Given the description of an element on the screen output the (x, y) to click on. 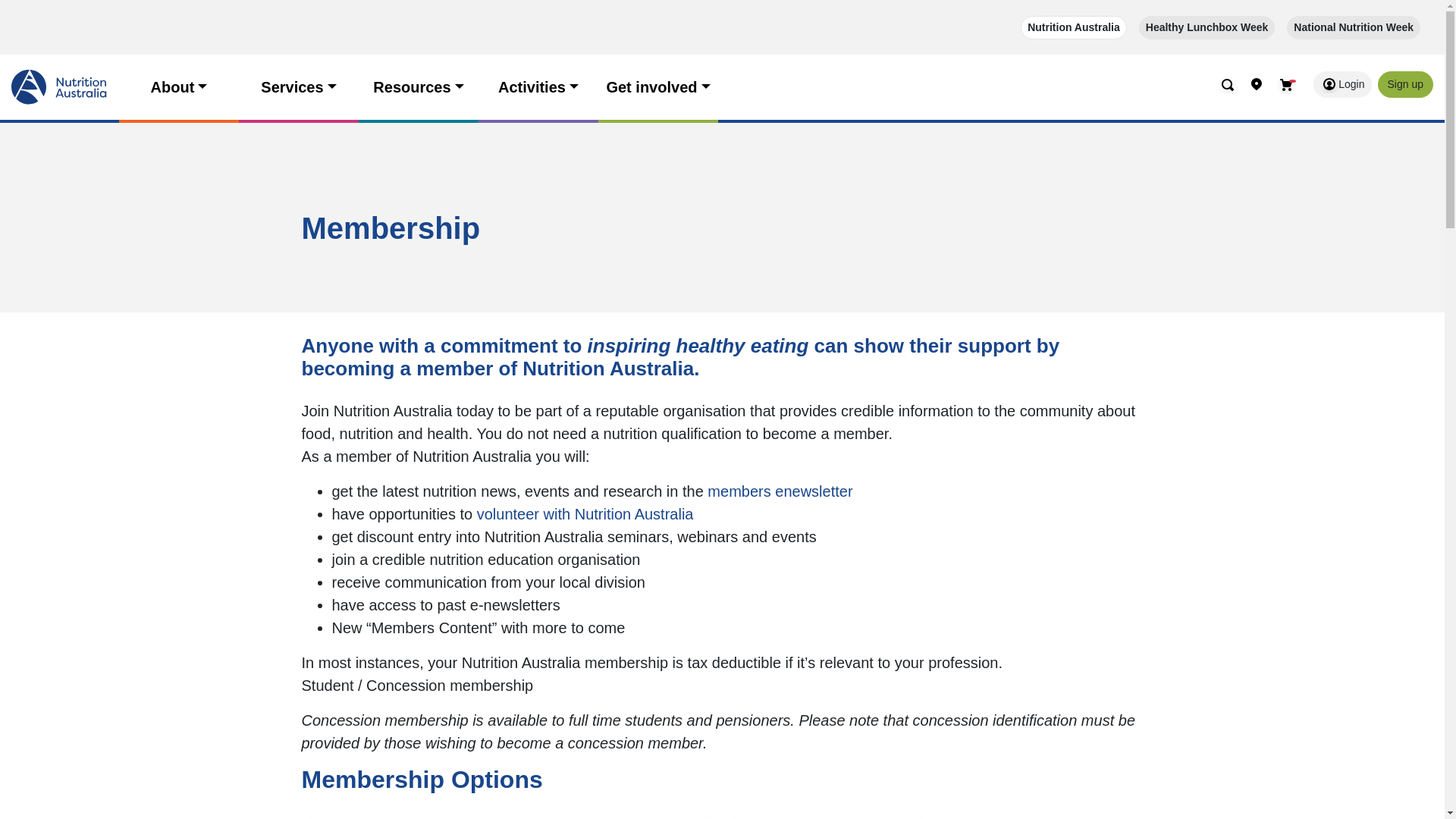
National Nutrition Week (1354, 27)
Get involved (657, 86)
Nutrition Australia (1073, 27)
Cart (1283, 85)
location (1256, 82)
Services (298, 86)
Nutrition Australia (1073, 27)
Search (1227, 82)
Sign up (1404, 84)
Healthy Lunchbox Week (1206, 27)
